Given the description of an element on the screen output the (x, y) to click on. 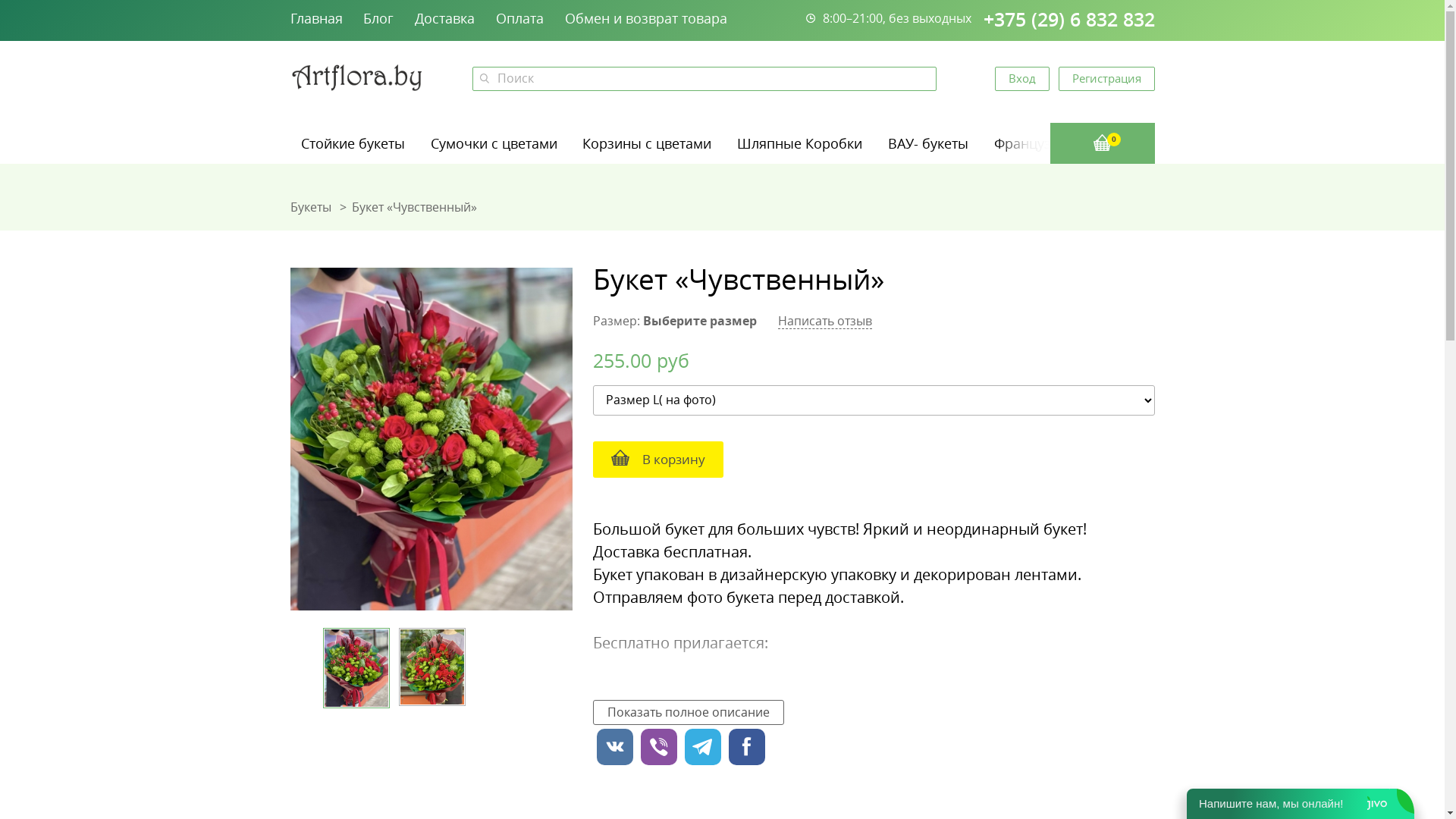
+375 (29) 6 832 832 Element type: text (1068, 20)
0 Element type: text (1101, 142)
artflora.by Element type: hover (356, 77)
